Given the description of an element on the screen output the (x, y) to click on. 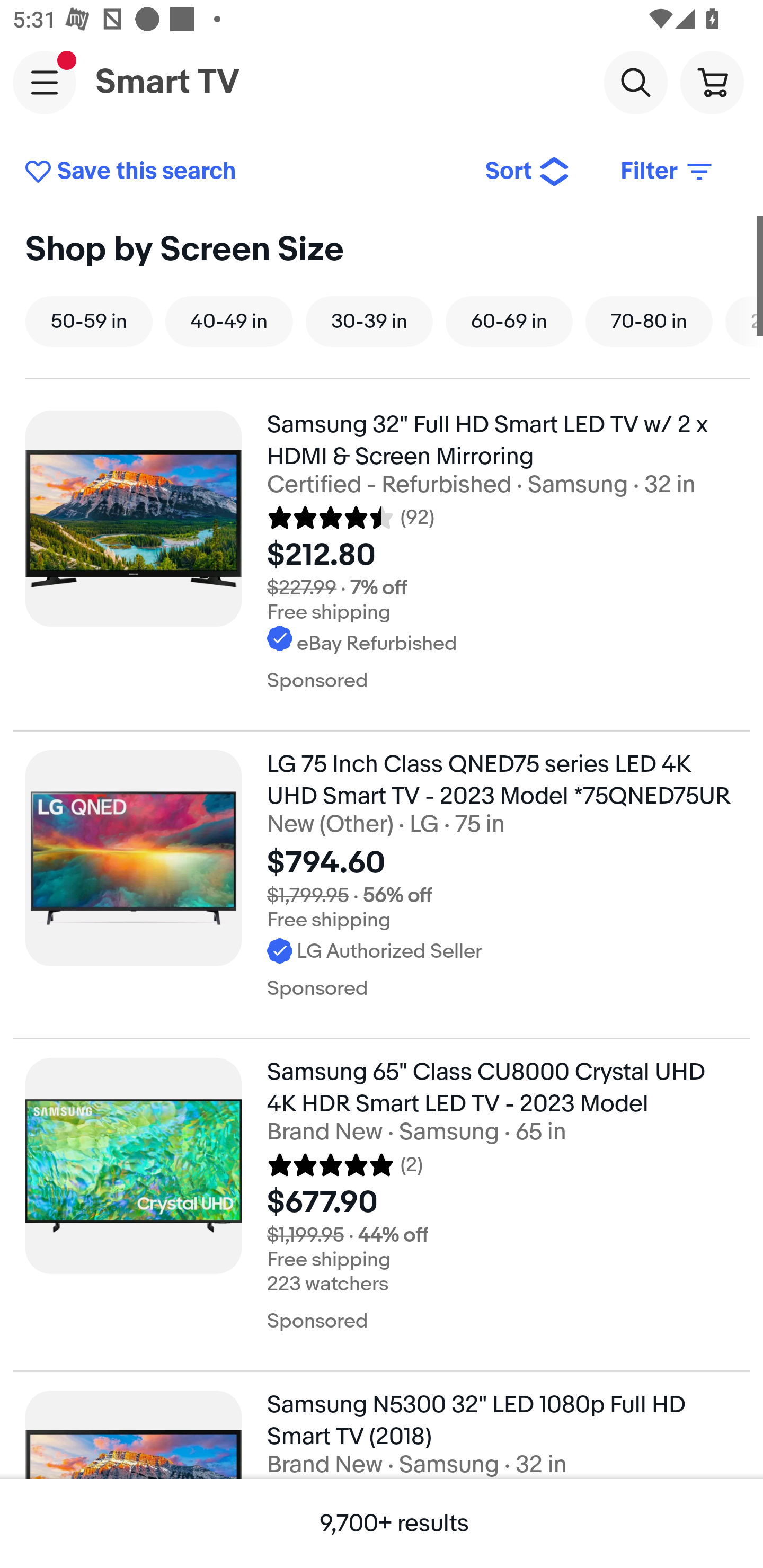
Main navigation, notification is pending, open (44, 82)
Search (635, 81)
Cart button shopping cart (711, 81)
Save this search (241, 171)
Sort (527, 171)
Filter (667, 171)
50-59 in 50-59 in, Screen Size (88, 321)
40-49 in 40-49 in, Screen Size (228, 321)
30-39 in 30-39 in, Screen Size (368, 321)
60-69 in 60-69 in, Screen Size (509, 321)
70-80 in 70-80 in, Screen Size (648, 321)
